Given the description of an element on the screen output the (x, y) to click on. 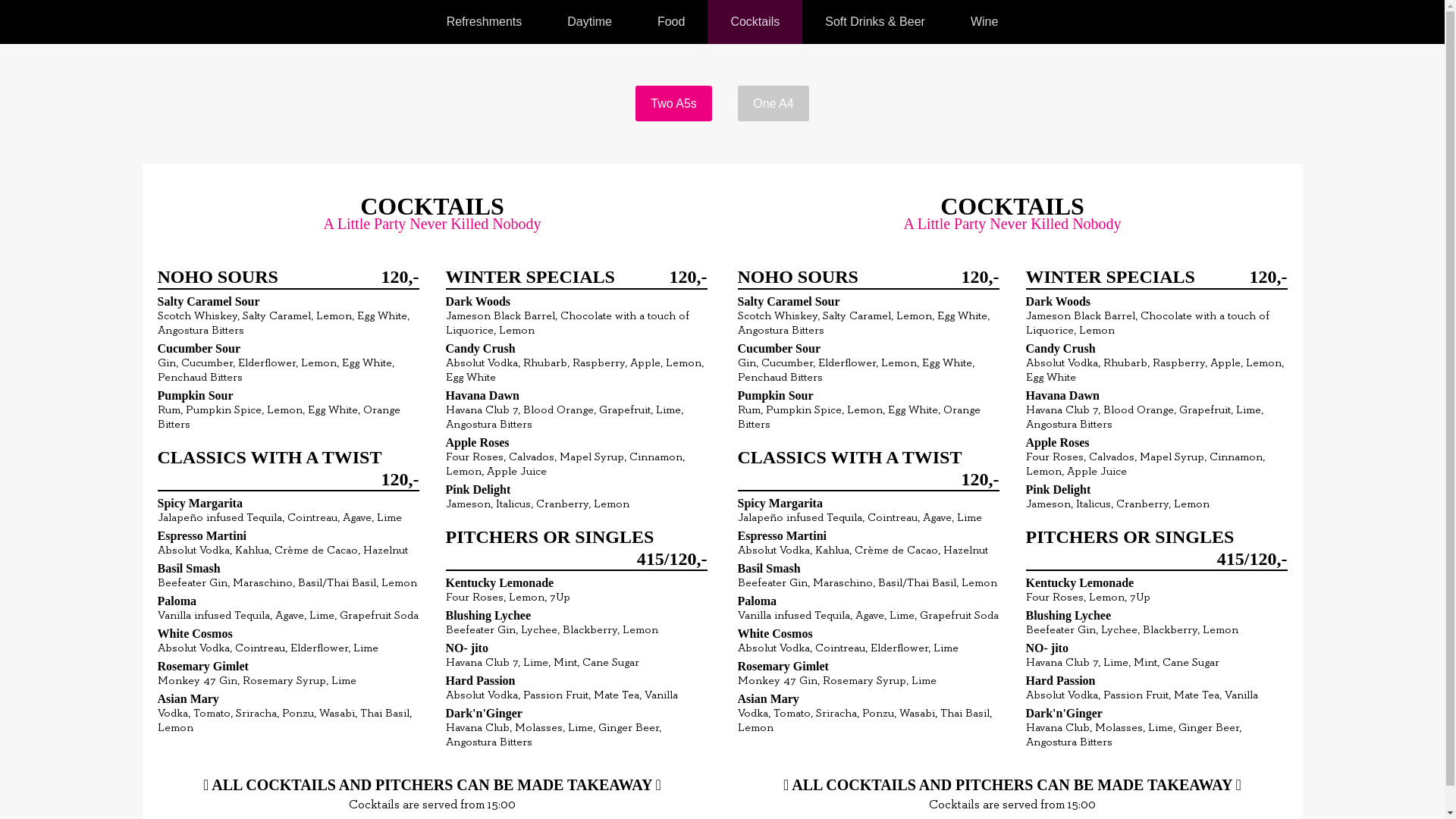
Two A5s Element type: text (673, 103)
Wine Element type: text (983, 21)
Refreshments Element type: text (484, 21)
Daytime Element type: text (589, 21)
Food Element type: text (670, 21)
Cocktails Element type: text (754, 21)
One A4 Element type: text (772, 103)
Soft Drinks & Beer Element type: text (874, 21)
